Given the description of an element on the screen output the (x, y) to click on. 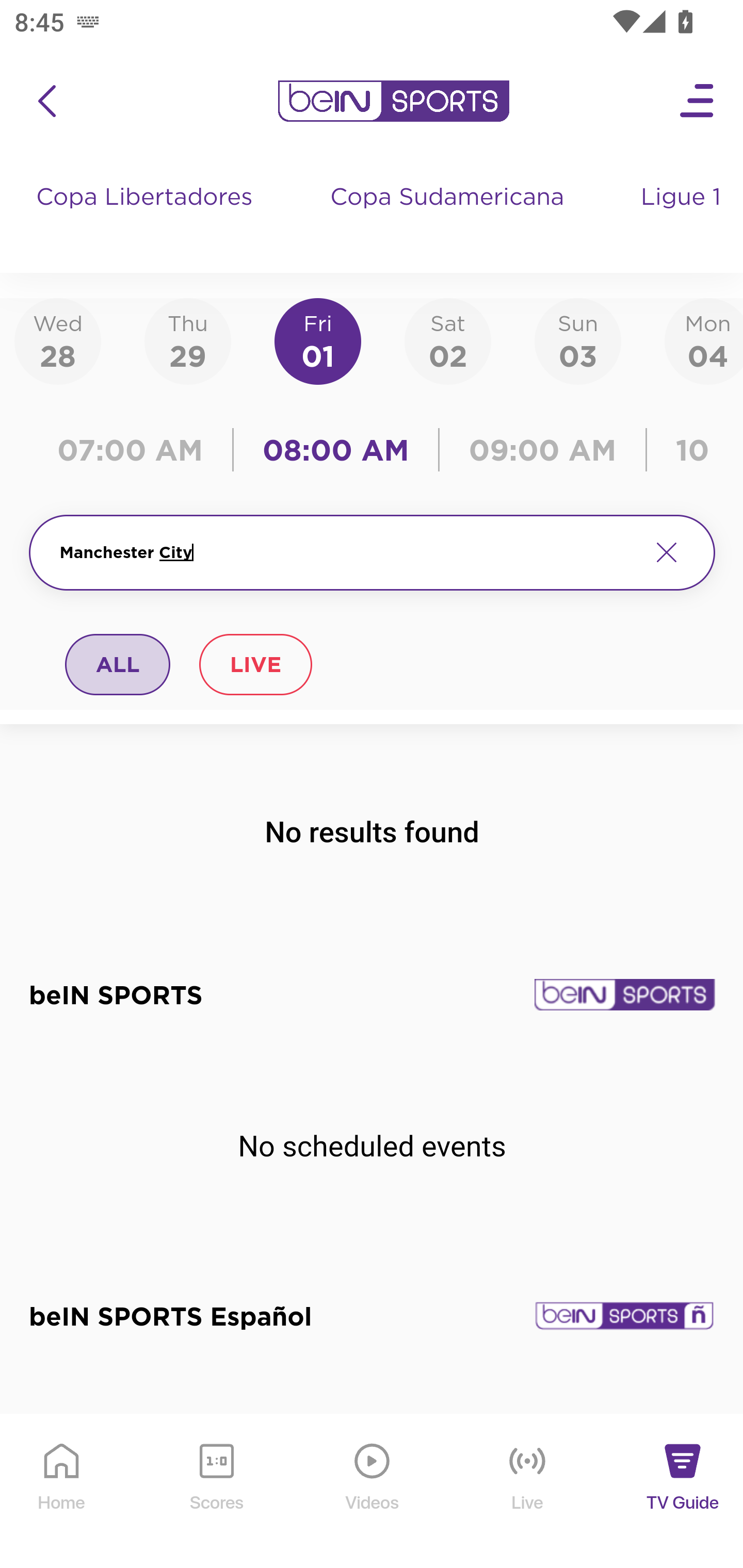
en-us?platform=mobile_android bein logo (392, 101)
icon back (46, 101)
Open Menu Icon (697, 101)
Copa Libertadores (146, 216)
Copa Sudamericana (448, 216)
Ligue 1 (682, 216)
Wed28 (58, 340)
Thu29 (187, 340)
Fri01 (318, 340)
Sat02 (447, 340)
Sun03 (578, 340)
Mon04 (703, 340)
07:00 AM (135, 449)
08:00 AM (336, 449)
09:00 AM (542, 449)
Manchester City (346, 552)
ALL (118, 663)
LIVE (255, 663)
Home Home Icon Home (61, 1491)
Scores Scores Icon Scores (216, 1491)
Videos Videos Icon Videos (372, 1491)
TV Guide TV Guide Icon TV Guide (682, 1491)
